Given the description of an element on the screen output the (x, y) to click on. 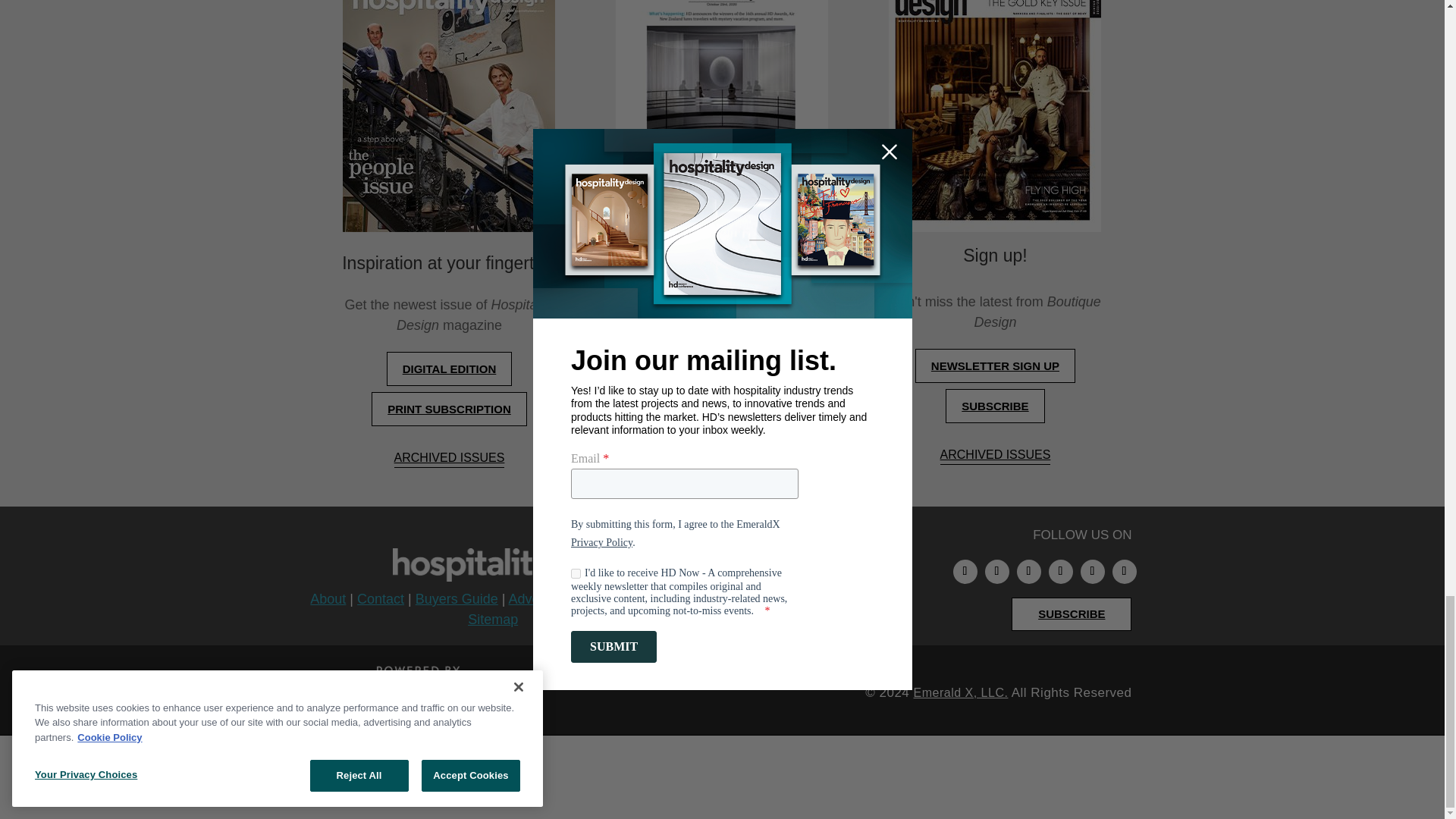
Follow on LinkedIn (997, 571)
Follow on Youtube (1124, 571)
Follow on Pinterest (1060, 571)
about (435, 779)
your-privacy-choices (822, 779)
terms-of-use (975, 779)
logo-white (506, 564)
Follow on Instagram (964, 571)
Follow on Facebook (1028, 571)
careers (492, 779)
authorized-service-providers (635, 779)
Follow on X (1092, 571)
preview-full-Newsletter-Five-on-Friday (721, 115)
boutique design winter 2023 issue (994, 115)
july 2024 cover (448, 115)
